Given the description of an element on the screen output the (x, y) to click on. 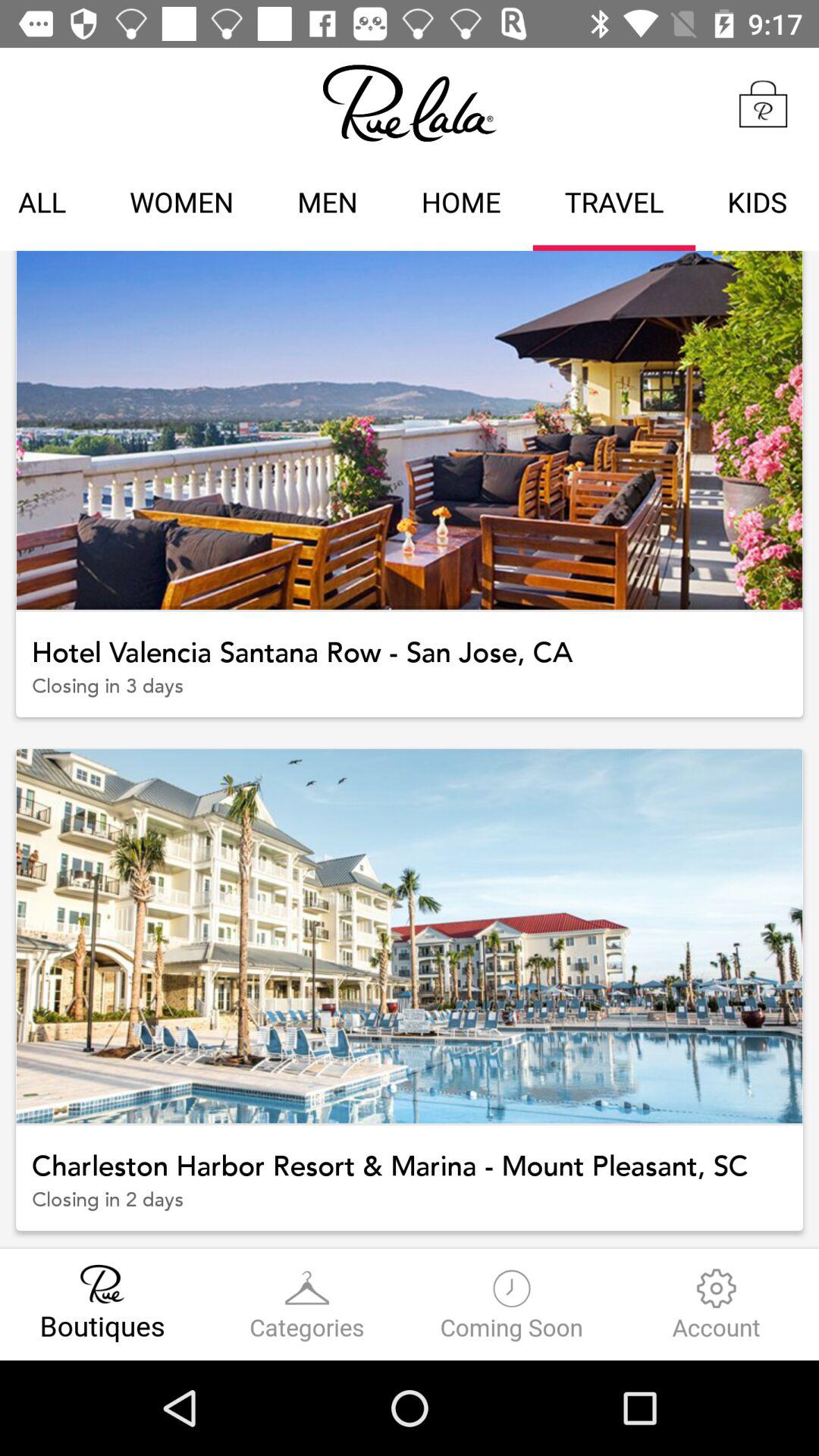
open the icon next to home (613, 204)
